Given the description of an element on the screen output the (x, y) to click on. 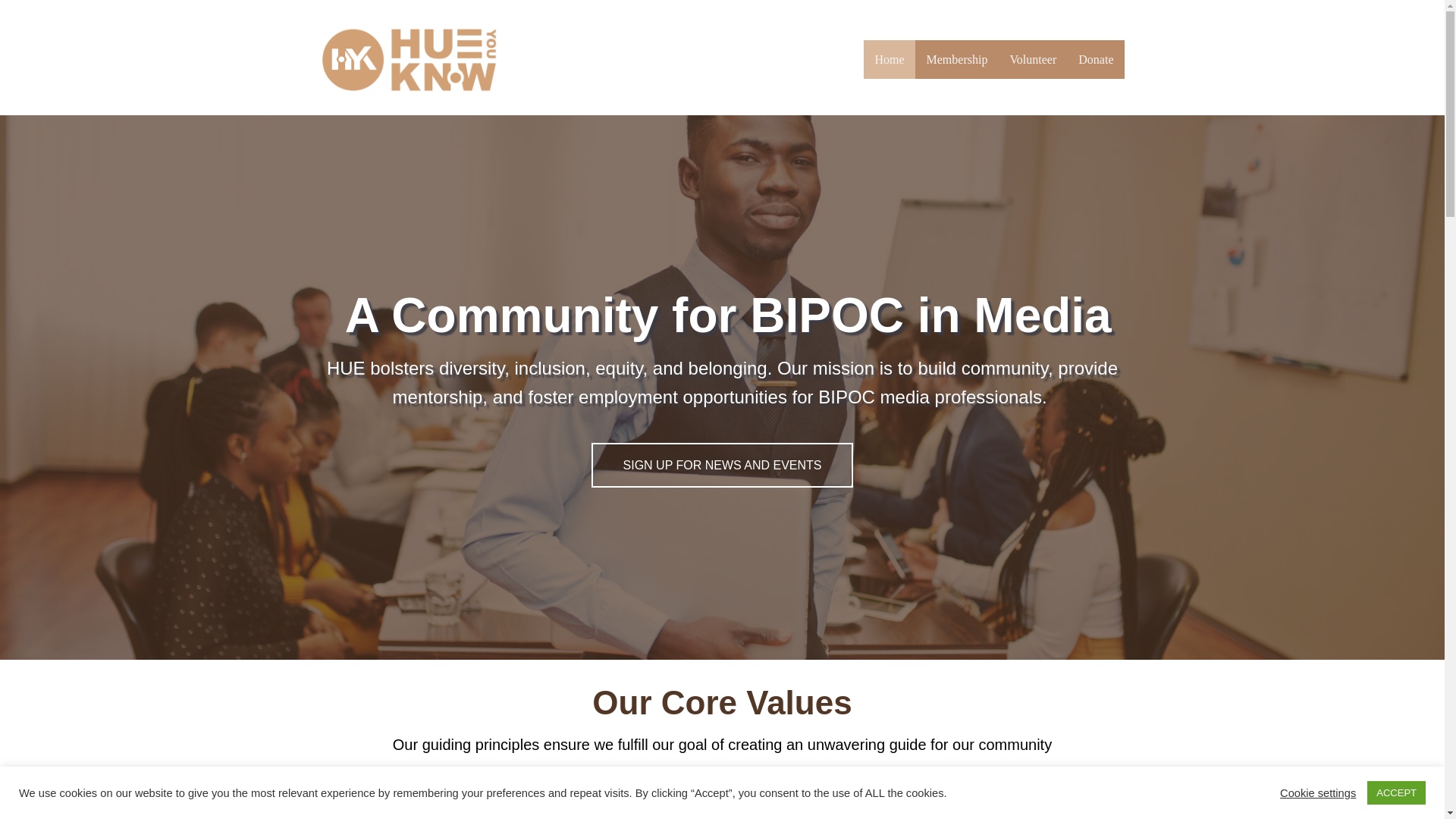
Donate (1095, 59)
ACCEPT (1396, 792)
Cookie settings (1317, 792)
Volunteer (1032, 59)
Membership (956, 59)
Home (888, 59)
SIGN UP FOR NEWS AND EVENTS (722, 465)
